Given the description of an element on the screen output the (x, y) to click on. 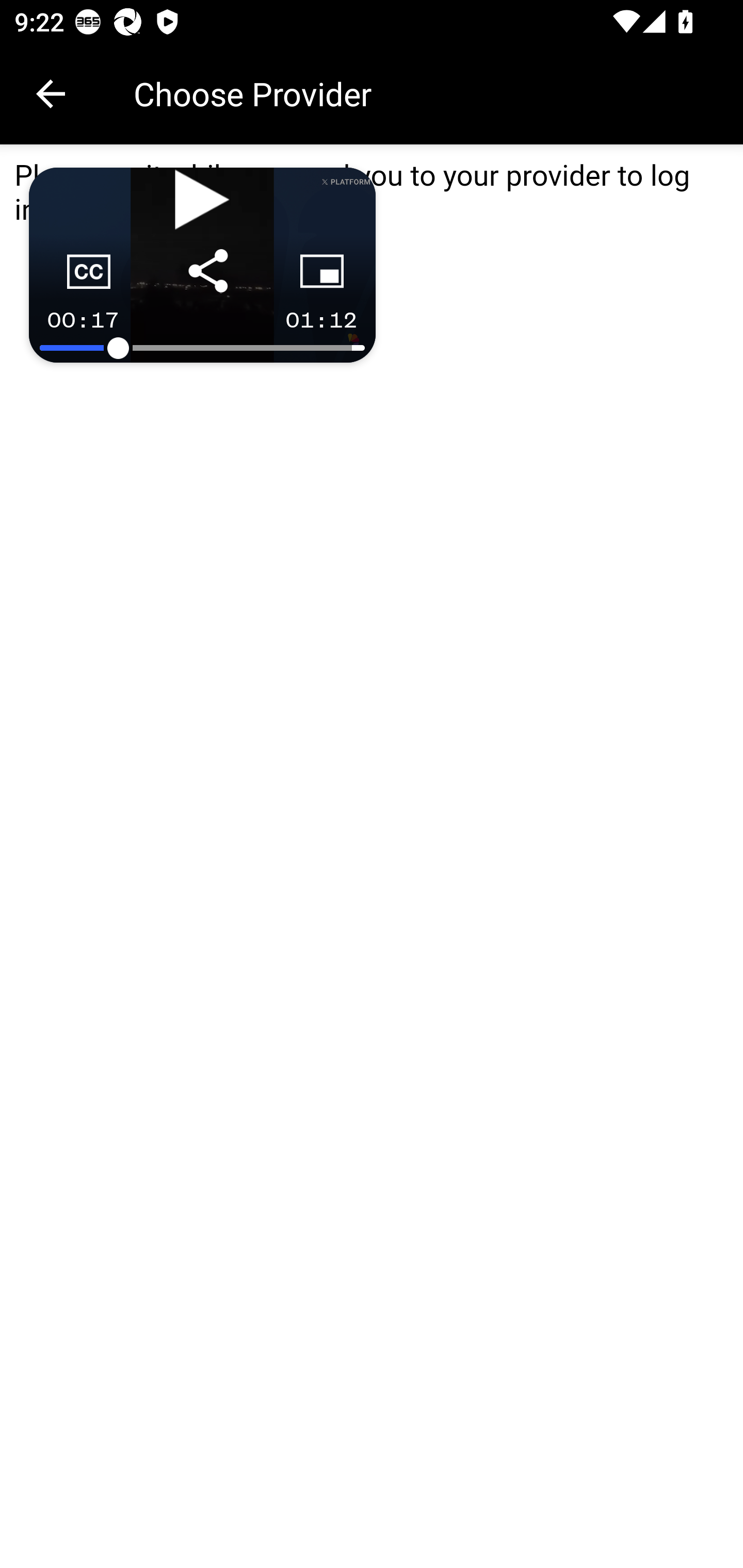
Navigate up (50, 93)
